Given the description of an element on the screen output the (x, y) to click on. 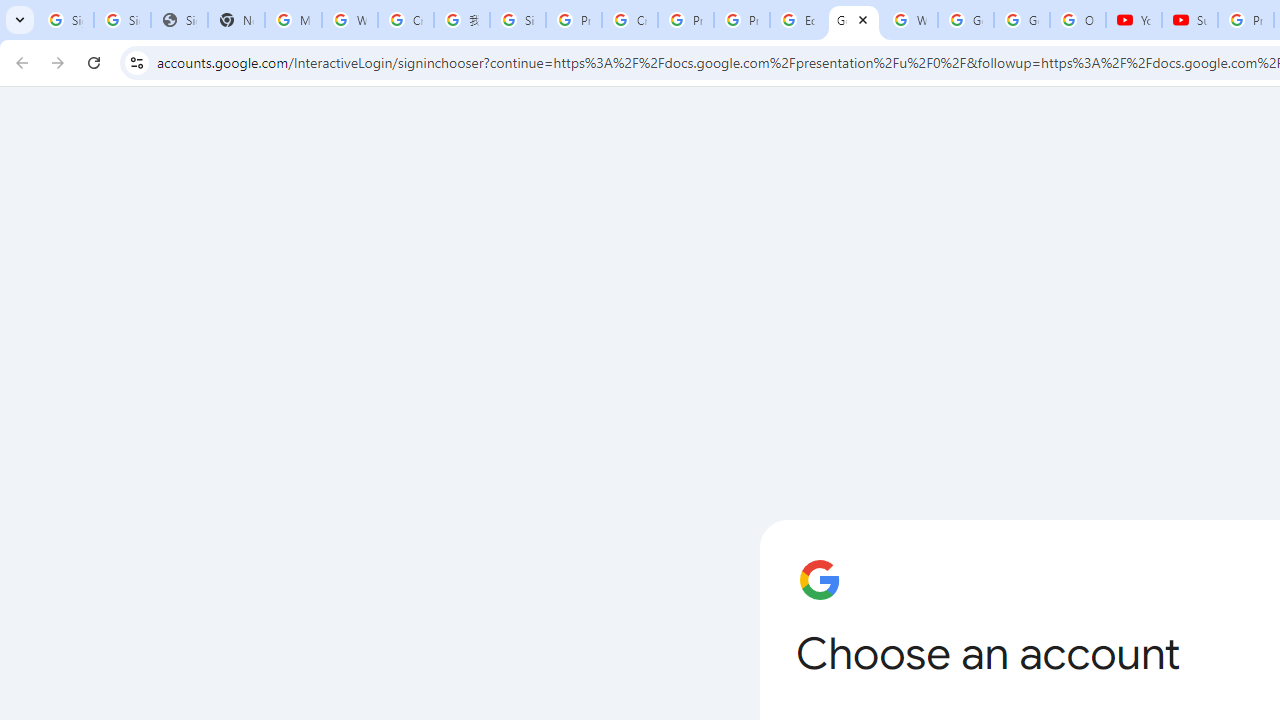
Sign in - Google Accounts (518, 20)
Edit and view right-to-left text - Google Docs Editors Help (797, 20)
Welcome to My Activity (909, 20)
Subscriptions - YouTube (1190, 20)
Create your Google Account (405, 20)
